Given the description of an element on the screen output the (x, y) to click on. 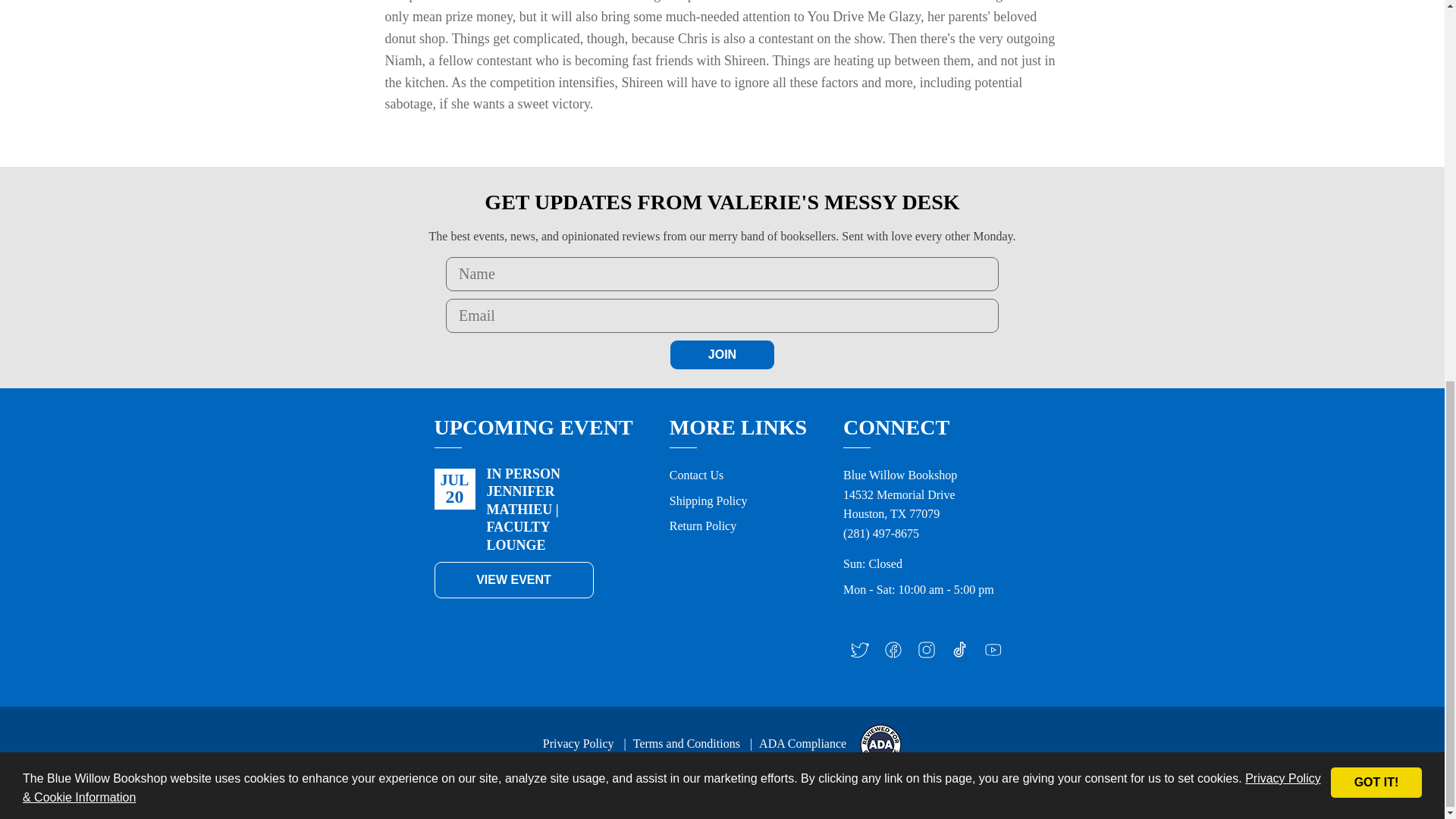
Connect with Instagram (926, 653)
Join (721, 354)
Connect with Facebook (892, 653)
GOT IT! (1376, 161)
Connect with Tik Tok (959, 653)
Connect with Youtube Channel (993, 653)
Connect with Twitter (859, 653)
